Given the description of an element on the screen output the (x, y) to click on. 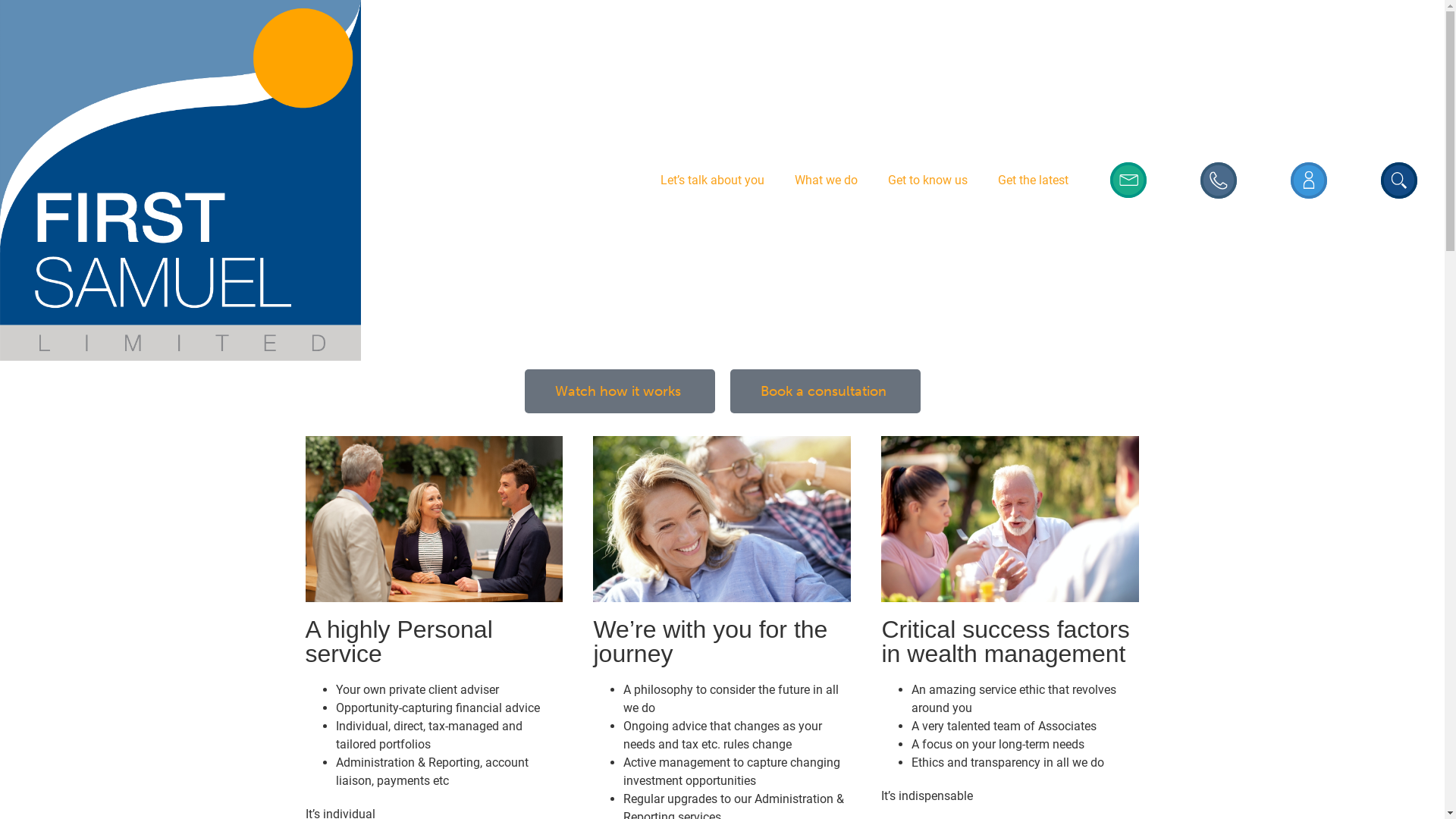
Book a consultation Element type: text (824, 391)
Get the latest Element type: text (1032, 180)
Watch how it works Element type: text (619, 391)
Get to know us Element type: text (927, 180)
What we do Element type: text (825, 180)
